Given the description of an element on the screen output the (x, y) to click on. 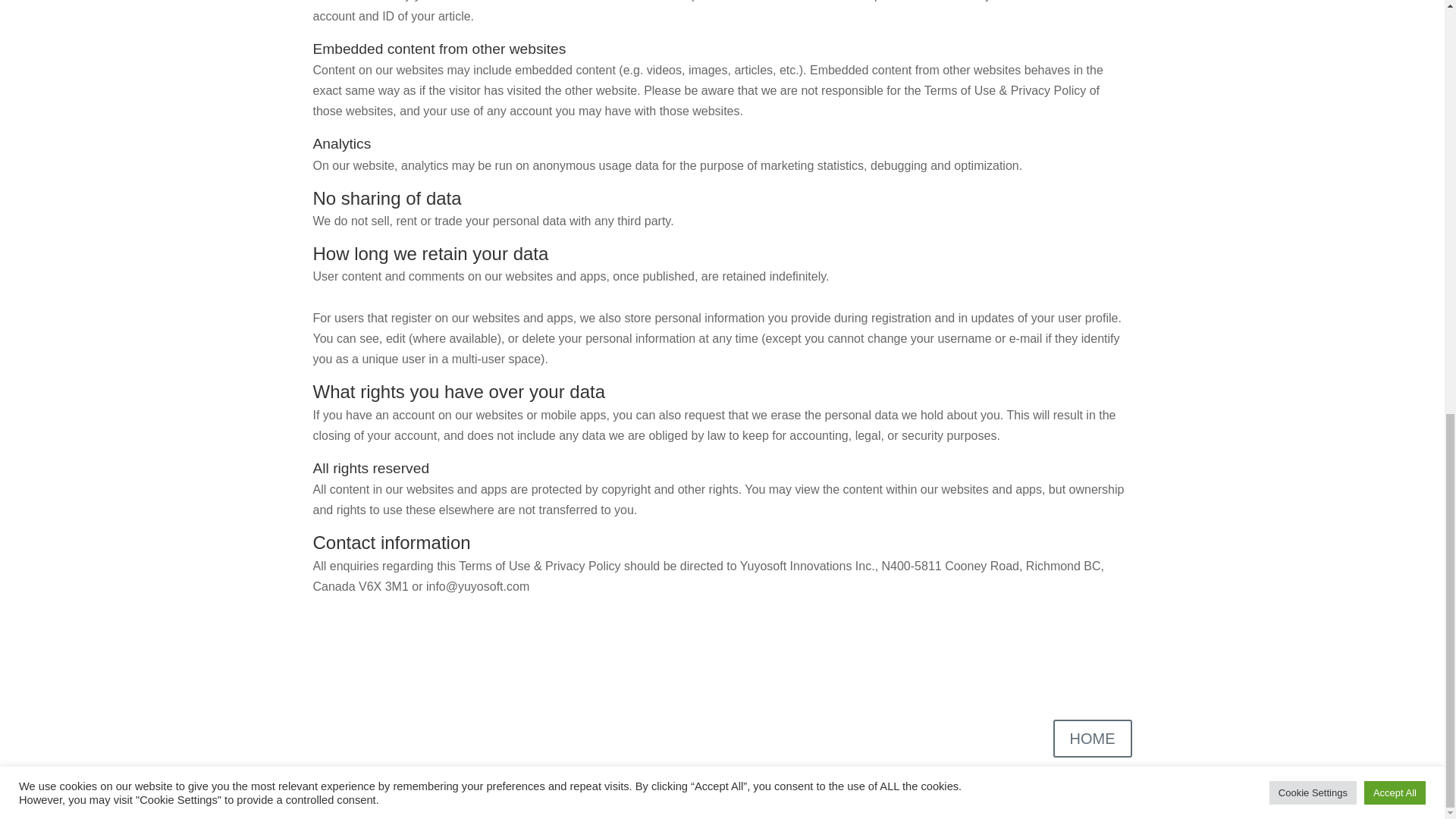
HOME (1091, 738)
